Given the description of an element on the screen output the (x, y) to click on. 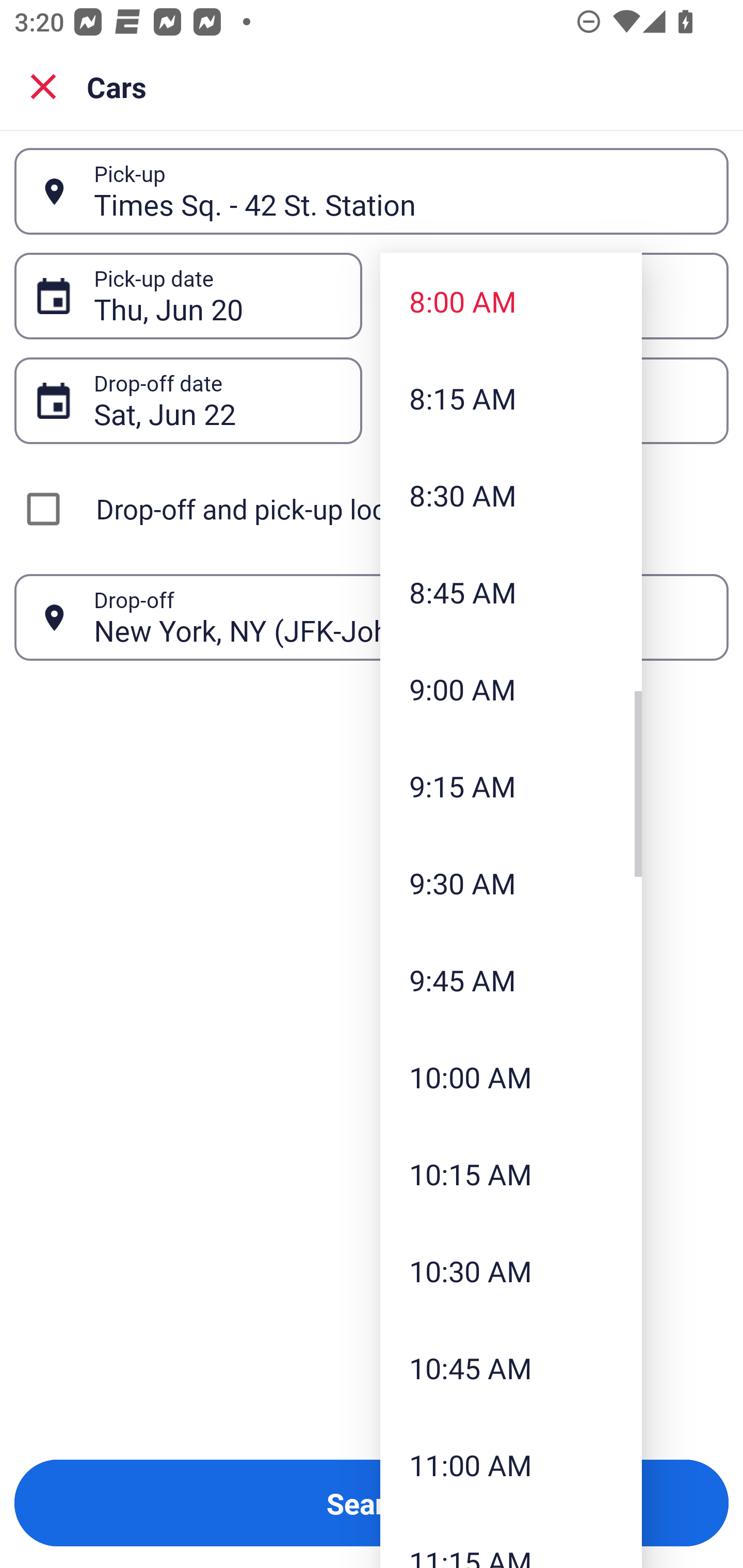
8:00 AM (510, 300)
8:15 AM (510, 397)
8:30 AM (510, 495)
8:45 AM (510, 592)
9:00 AM (510, 688)
9:15 AM (510, 785)
9:30 AM (510, 882)
9:45 AM (510, 979)
10:00 AM (510, 1076)
10:15 AM (510, 1174)
10:30 AM (510, 1270)
10:45 AM (510, 1366)
11:00 AM (510, 1464)
